Given the description of an element on the screen output the (x, y) to click on. 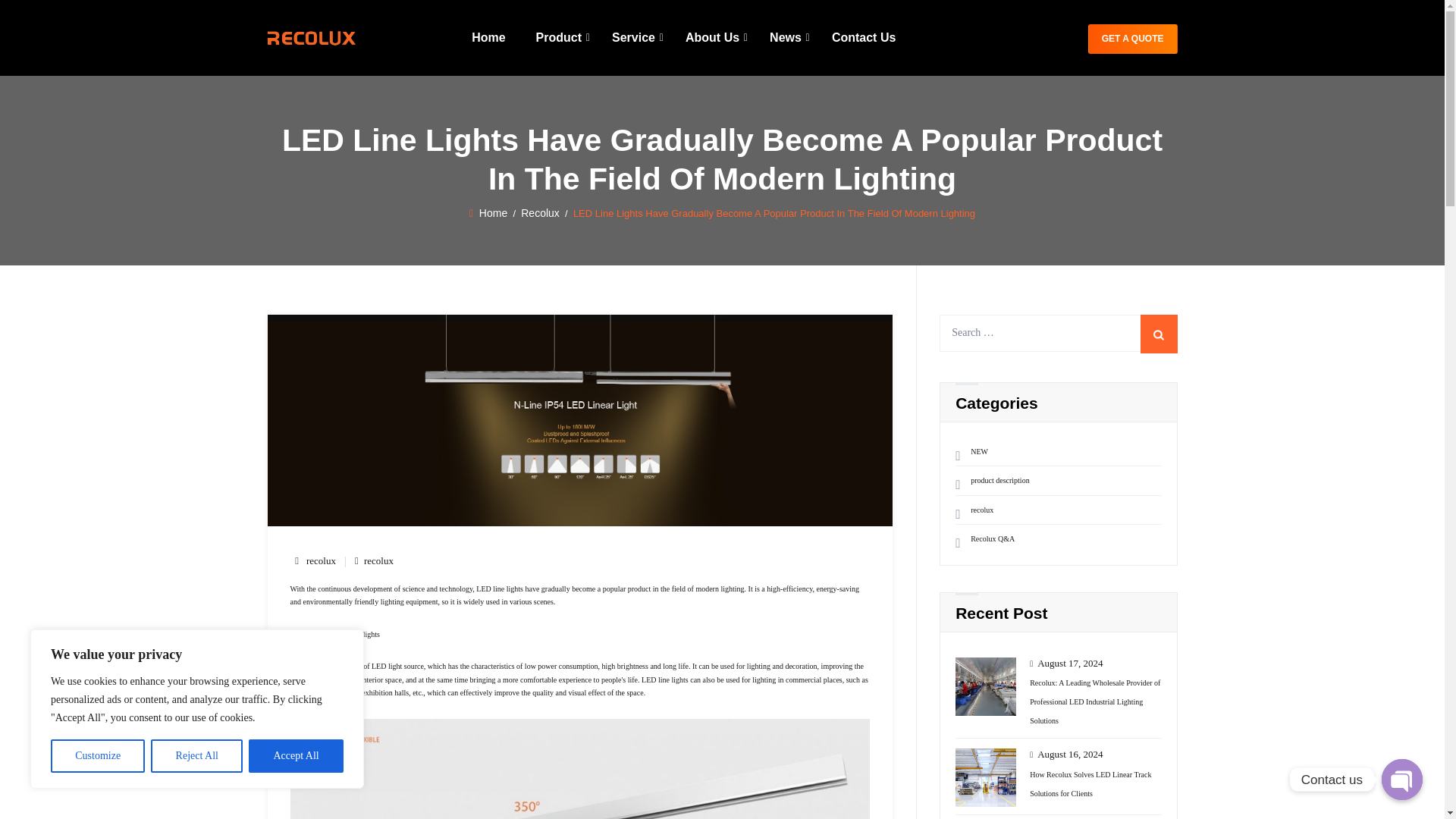
Accept All (295, 756)
Customize (97, 756)
GET A QUOTE (1132, 39)
Go to the recolux Category archives. (540, 212)
Recolux Lighting-LED Industrial Lighting Expert from China (310, 38)
Search (1158, 333)
Reject All (197, 756)
Search (1158, 333)
Product (558, 38)
